Given the description of an element on the screen output the (x, y) to click on. 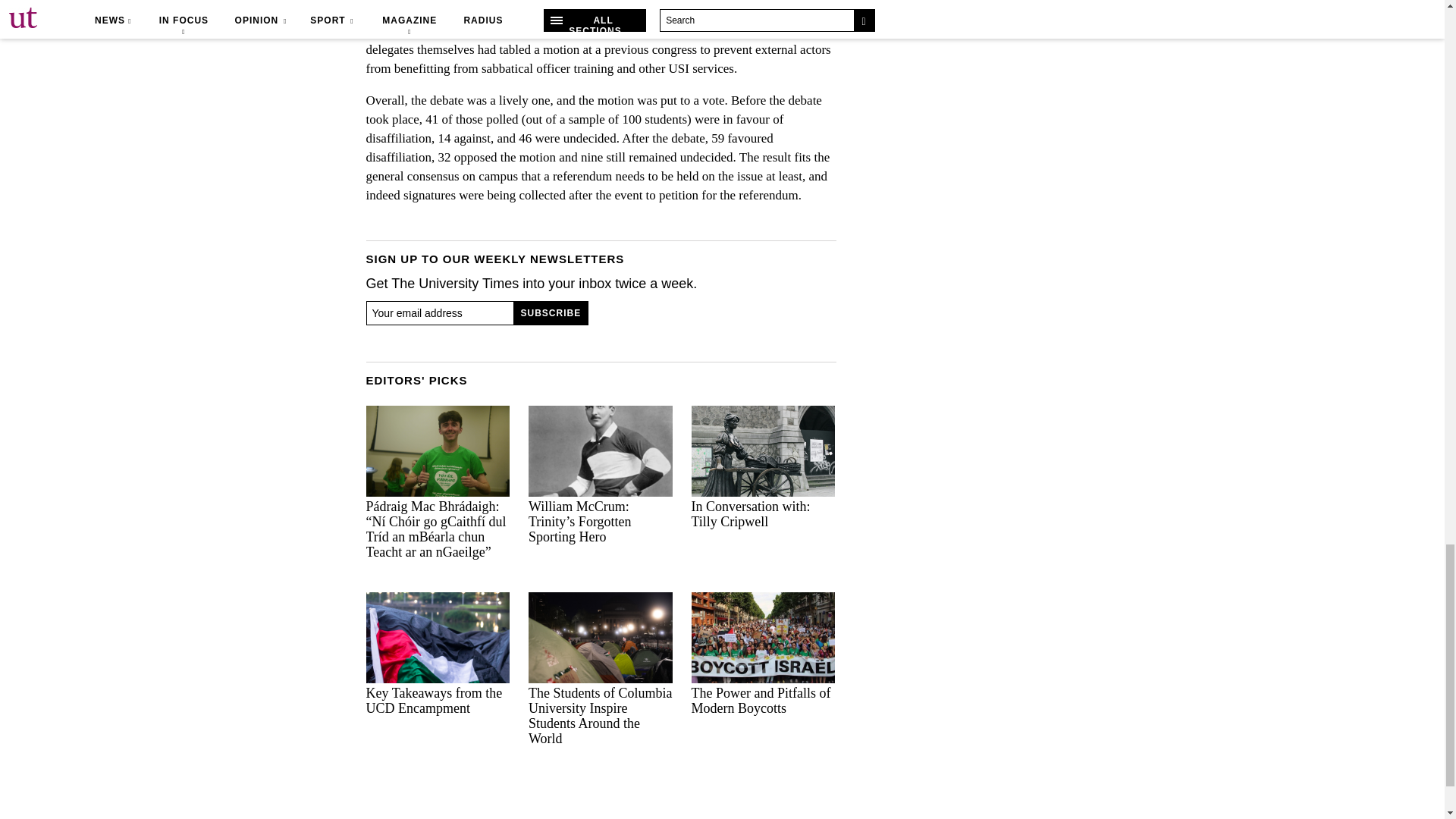
Your email address (439, 313)
Subscribe (551, 313)
